Given the description of an element on the screen output the (x, y) to click on. 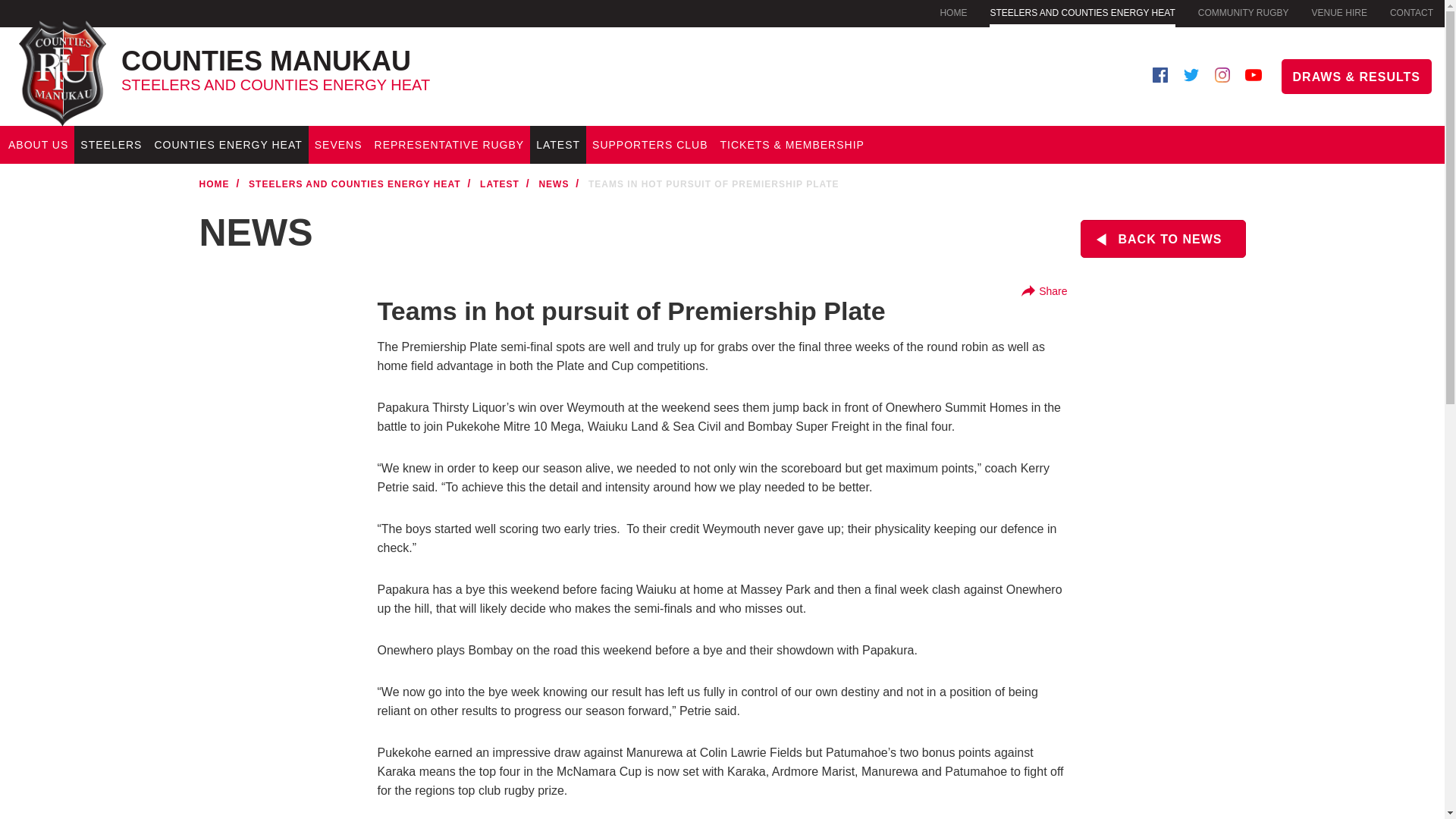
HOME (952, 12)
CONTACT (1411, 12)
STEELERS AND COUNTIES ENERGY HEAT (1082, 13)
REPRESENTATIVE RUGBY (449, 144)
SEVENS (338, 144)
STEELERS (111, 144)
ABOUT US (38, 144)
COUNTIES ENERGY HEAT (364, 63)
VENUE HIRE (227, 144)
COMMUNITY RUGBY (1339, 12)
